Given the description of an element on the screen output the (x, y) to click on. 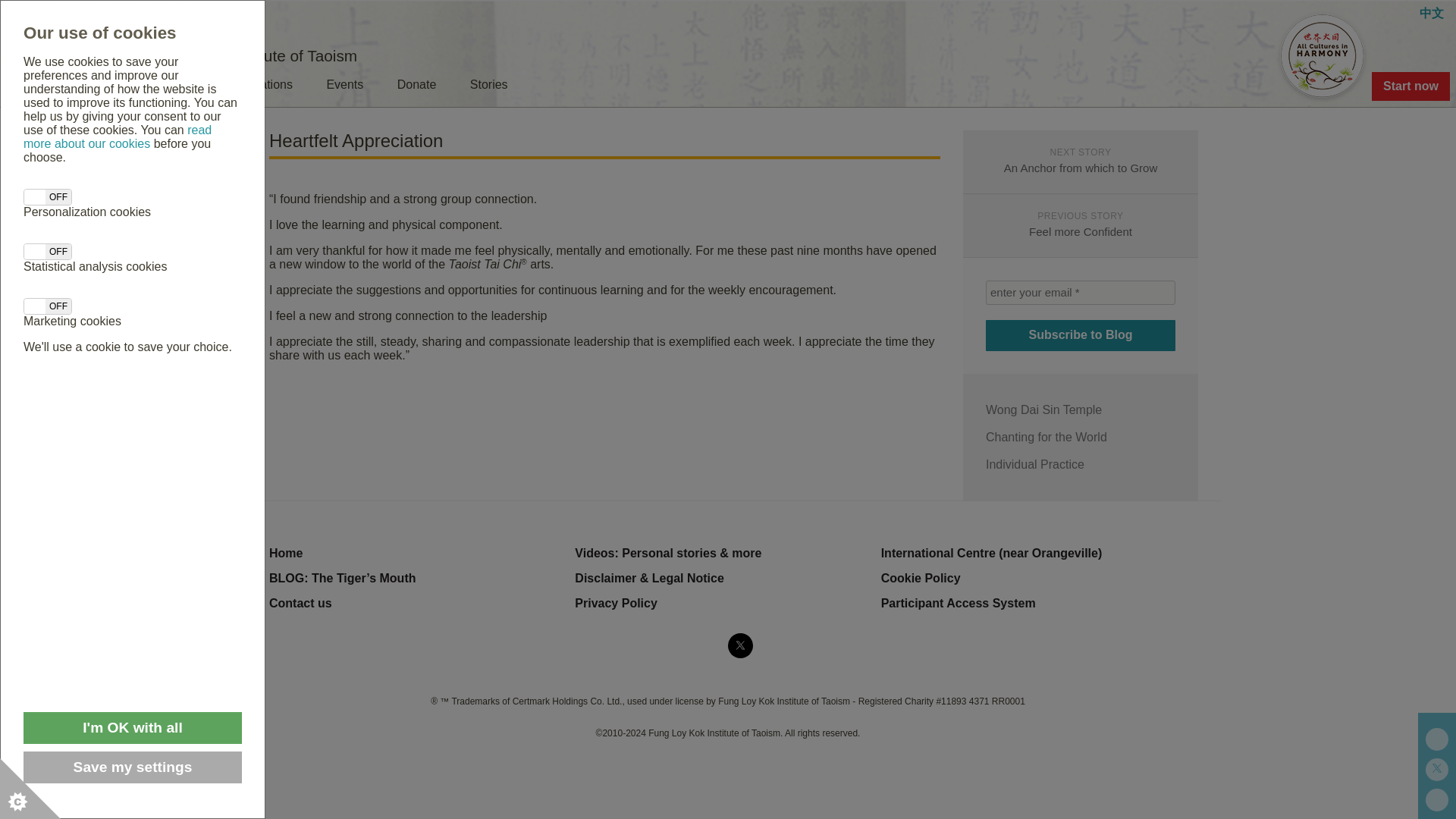
enter your email (1079, 292)
Fung Loy Kok Institute of Taoism (54, 54)
Find a Location (170, 9)
Subscribe to Blog (1079, 335)
Locations (266, 91)
